Given the description of an element on the screen output the (x, y) to click on. 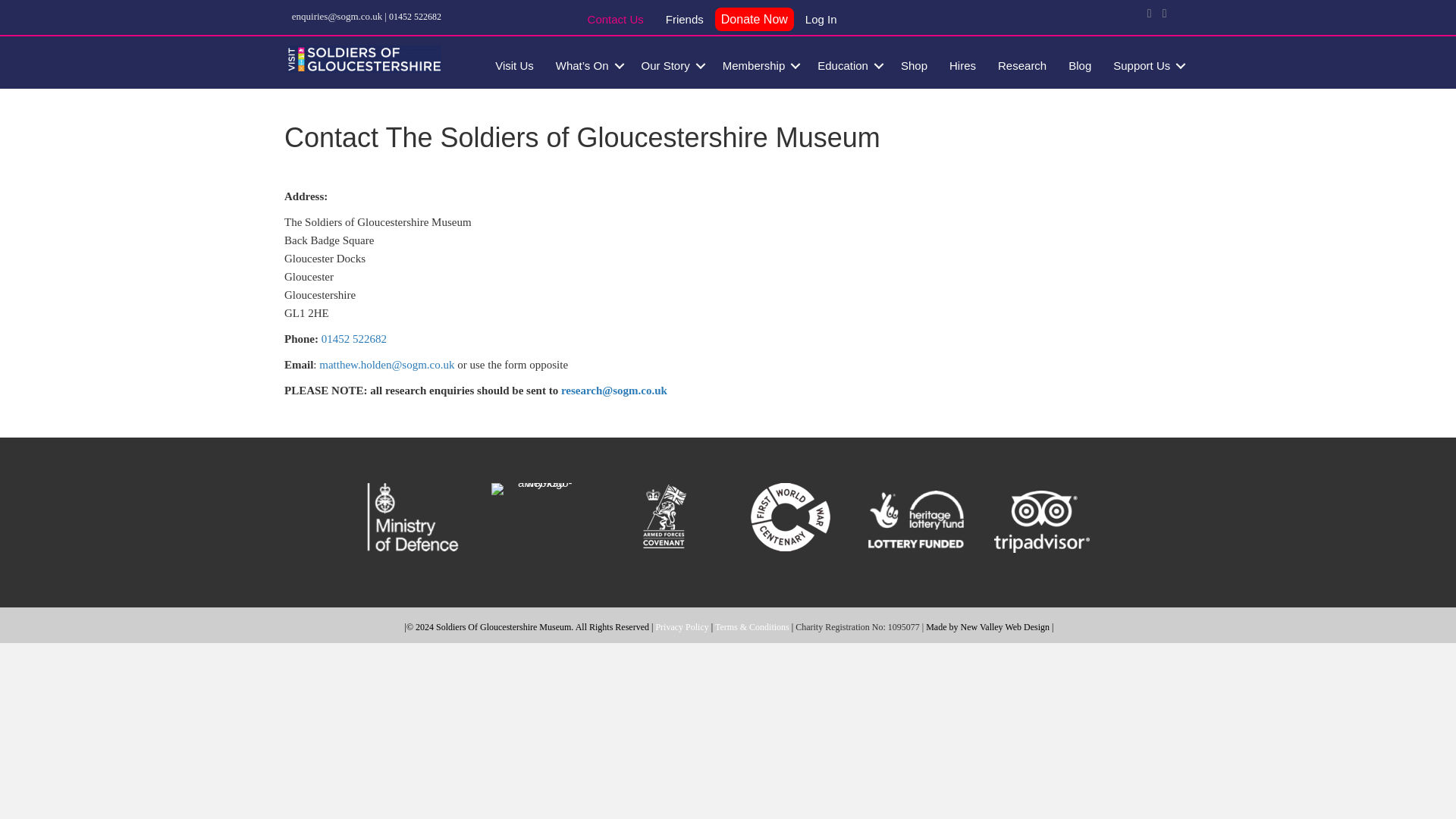
army-logo-webx90 (539, 489)
Log In (820, 21)
warfirstworld-webx90 (789, 517)
Donate Now (753, 19)
Visit Us (514, 65)
Contact Us (614, 21)
Friends (684, 21)
